Given the description of an element on the screen output the (x, y) to click on. 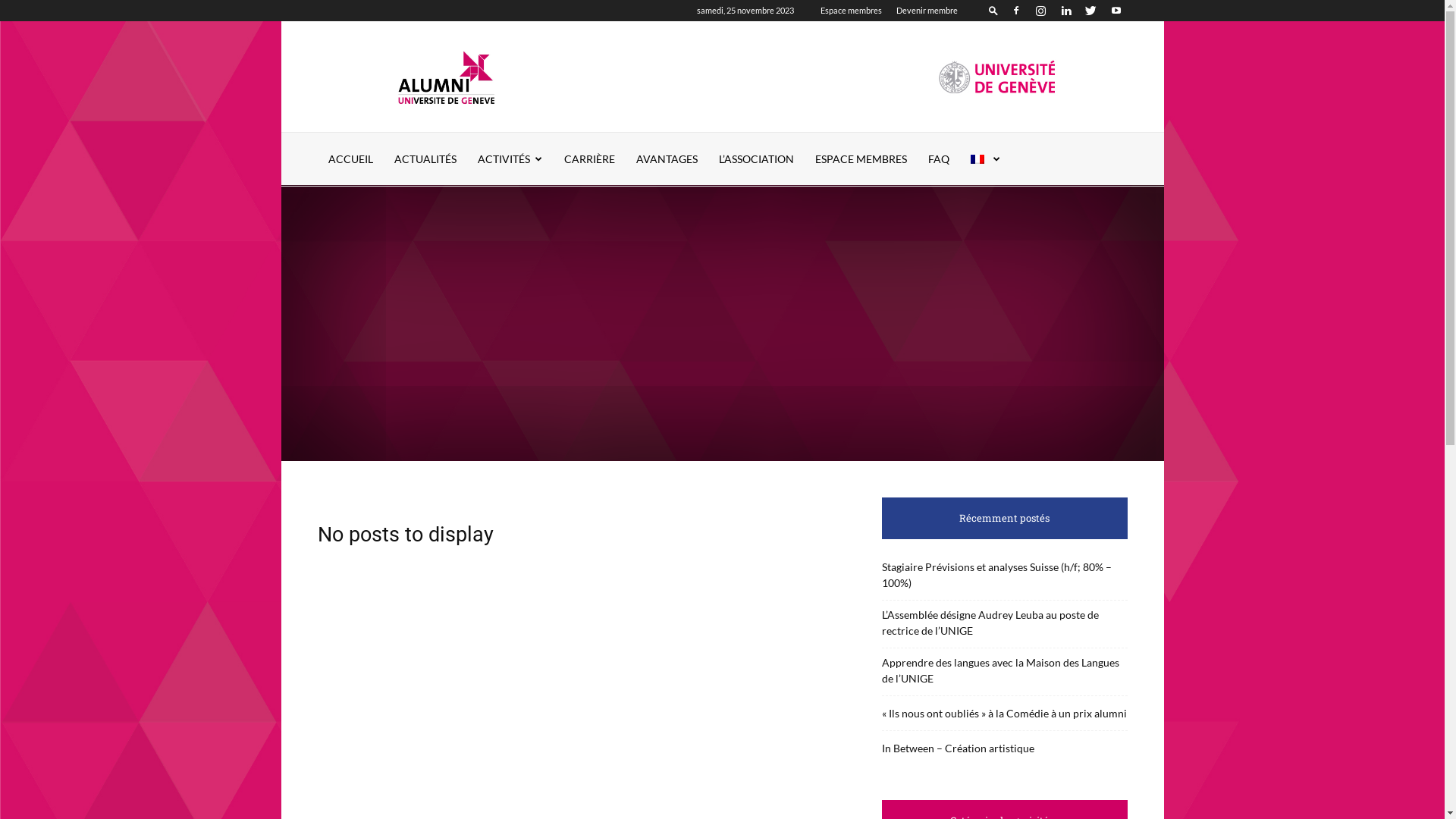
Twitter Element type: hover (1090, 10)
ESPACE MEMBRES Element type: text (859, 158)
AVANTAGES Element type: text (665, 158)
Facebook Element type: hover (1015, 10)
Devenir membre Element type: text (926, 10)
Youtube Element type: hover (1115, 10)
ALUMNI UNIGE Element type: hover (446, 76)
ACCUEIL Element type: text (349, 158)
Search Element type: text (1086, 64)
Espace membres Element type: text (850, 10)
Instagram Element type: hover (1040, 10)
Linkedin Element type: hover (1065, 10)
FAQ Element type: text (938, 158)
